Given the description of an element on the screen output the (x, y) to click on. 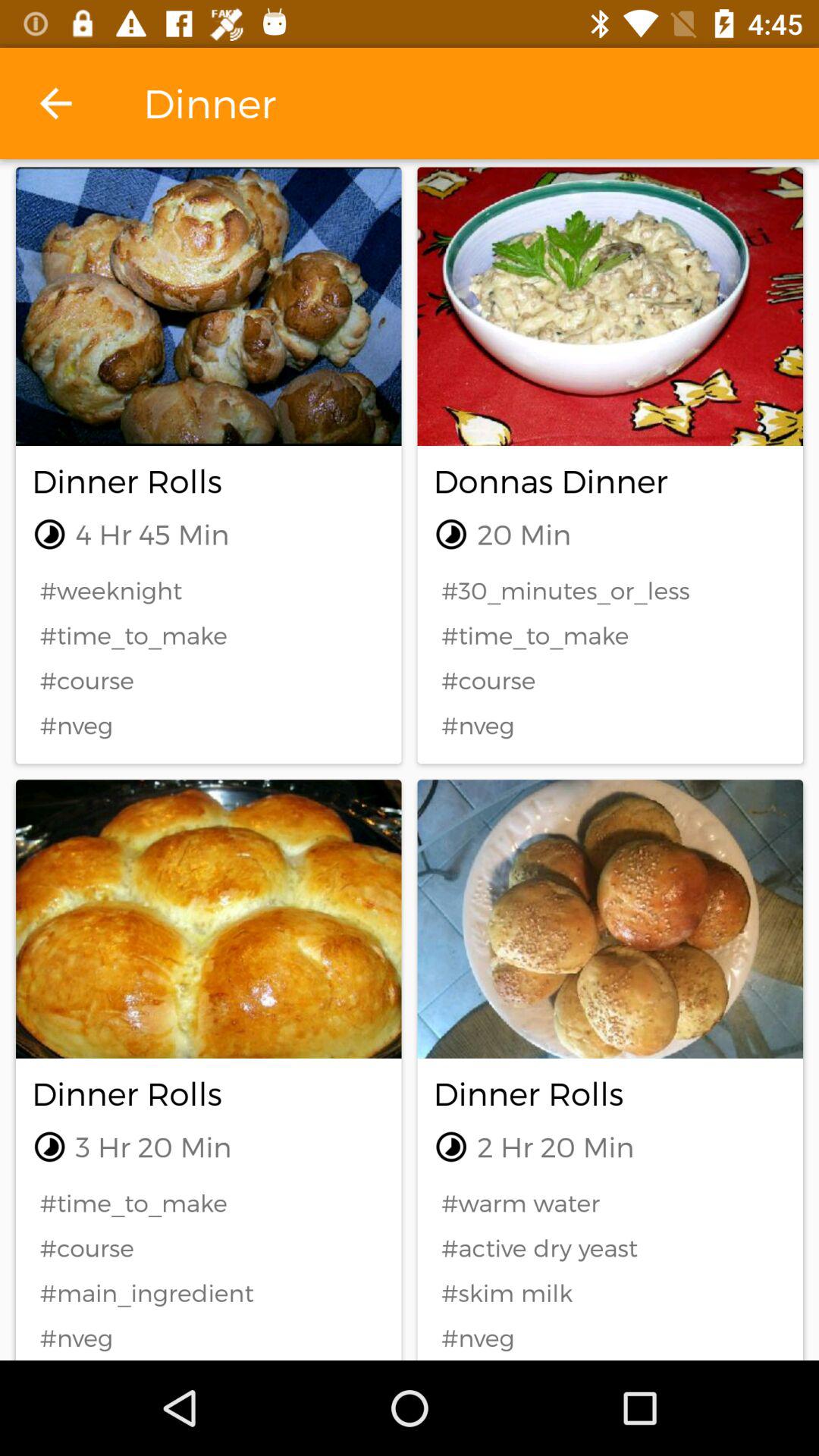
tap icon to the right of the #time_to_make icon (610, 1202)
